Given the description of an element on the screen output the (x, y) to click on. 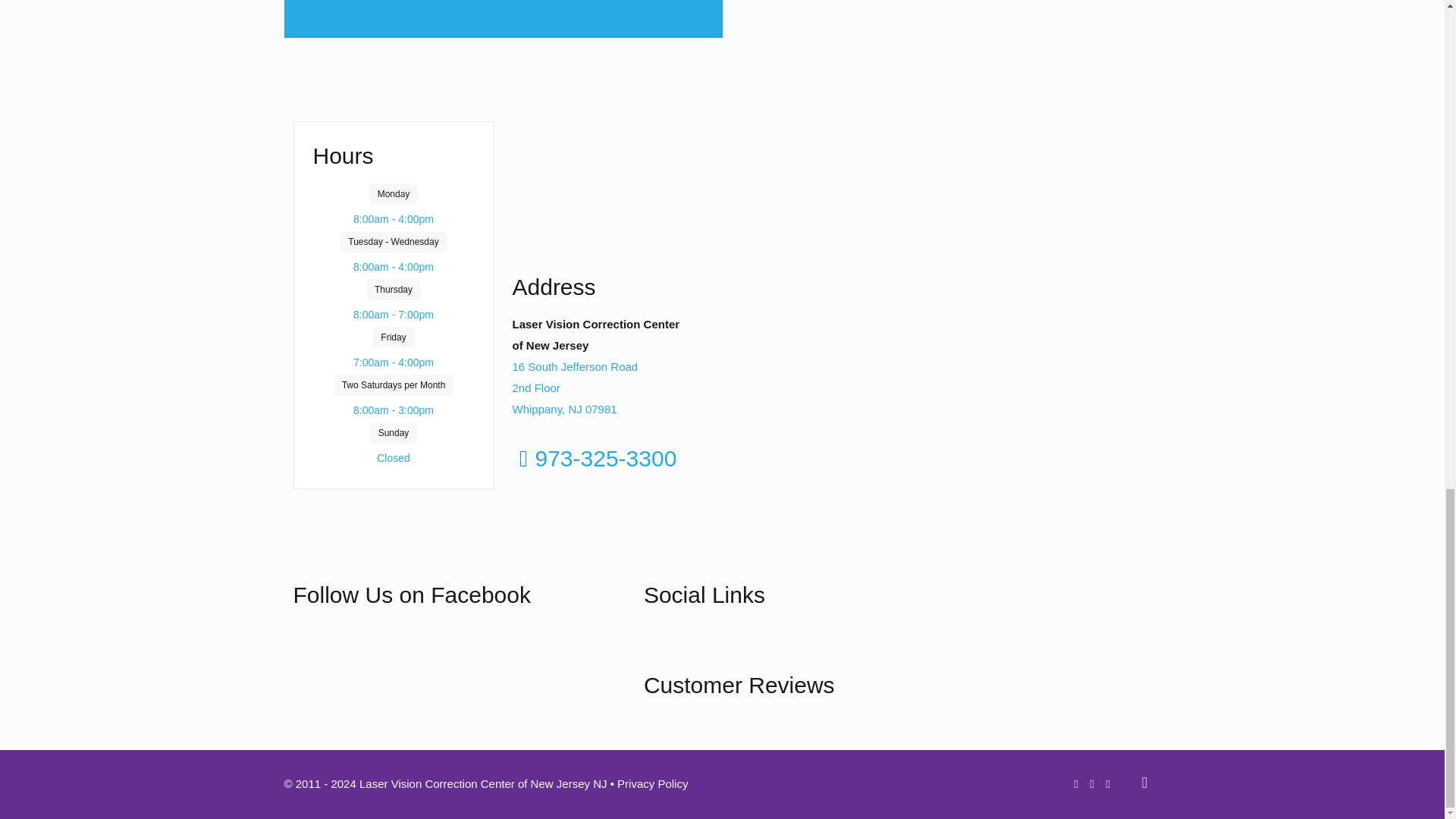
Facebook (676, 643)
LinkedIn (836, 643)
YouTube (783, 643)
Twitter (730, 643)
